Given the description of an element on the screen output the (x, y) to click on. 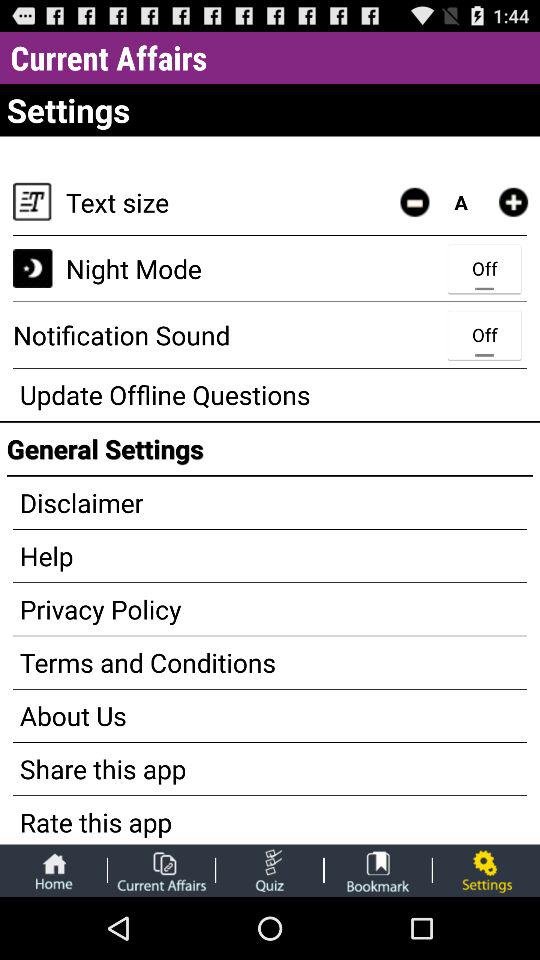
jump until terms and conditions app (270, 662)
